Given the description of an element on the screen output the (x, y) to click on. 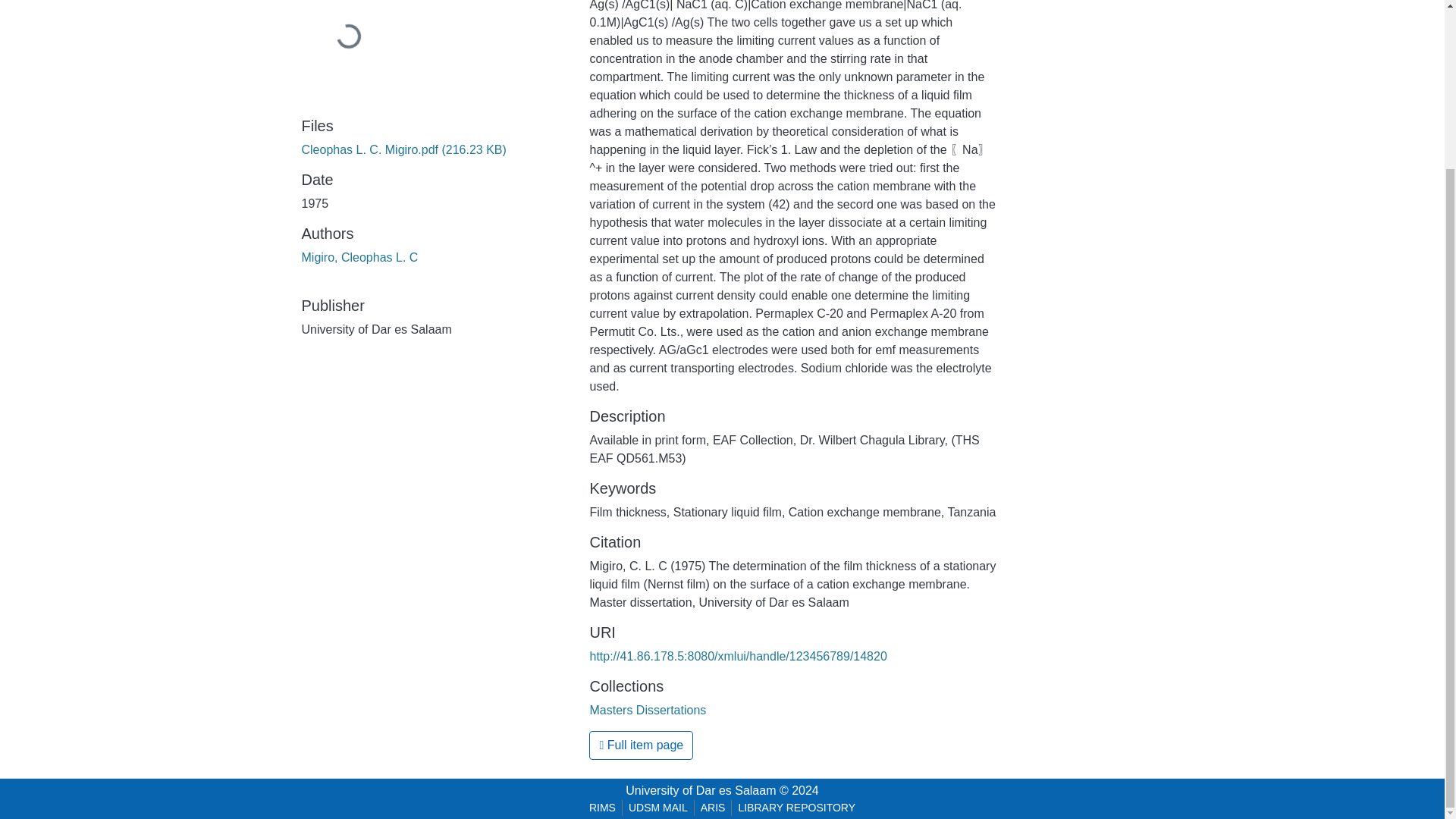
ARIS (713, 807)
Masters Dissertations (647, 709)
RIMS (602, 807)
Full item page (641, 745)
LIBRARY REPOSITORY (796, 807)
UDSM MAIL (658, 807)
Migiro, Cleophas L. C (360, 256)
